Given the description of an element on the screen output the (x, y) to click on. 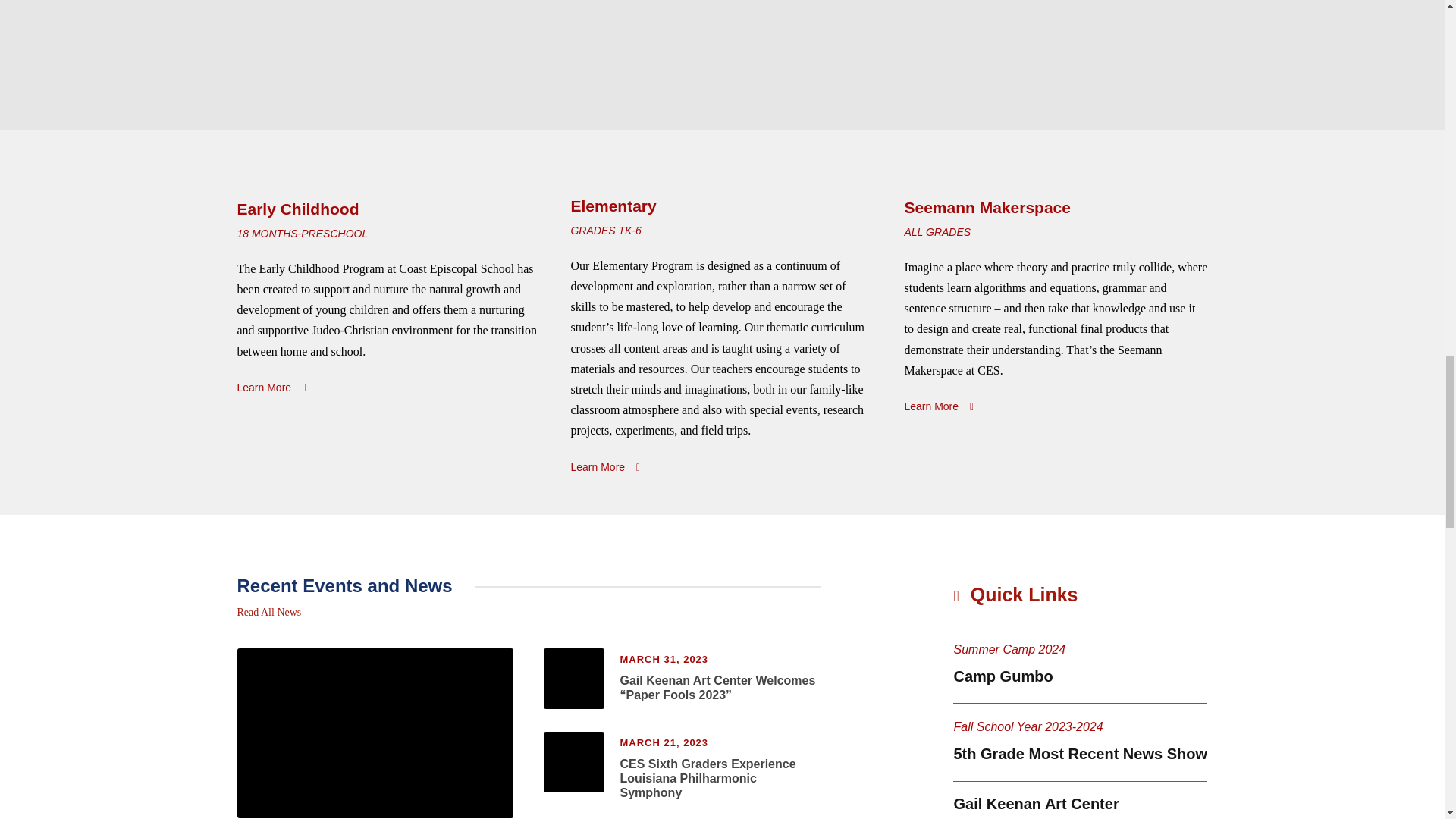
6th graders Orpheum (573, 762)
invitation3IGXX (573, 678)
